Given the description of an element on the screen output the (x, y) to click on. 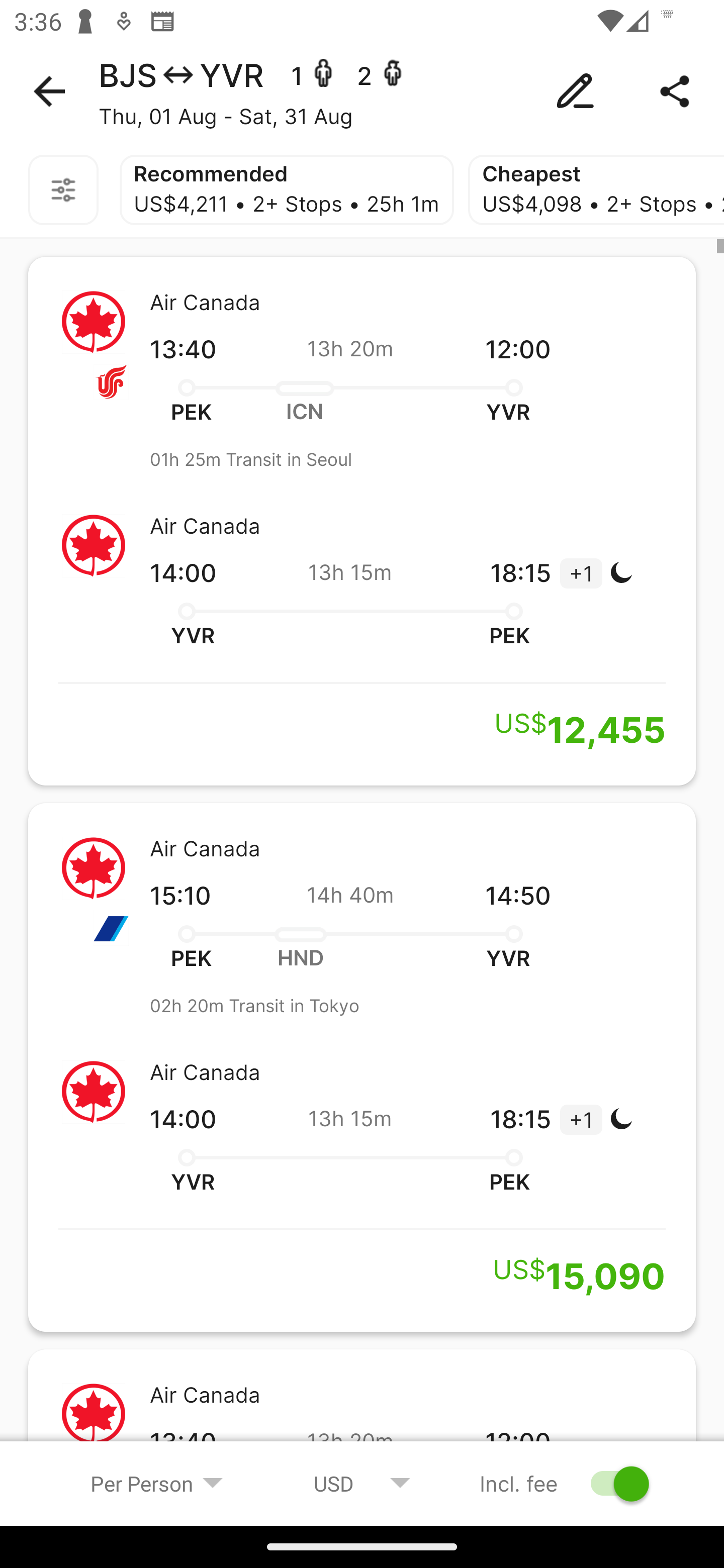
BJS YVR   1 -   2 - Thu, 01 Aug - Sat, 31 Aug (361, 91)
Recommended  US$4,211 • 2+ Stops • 25h 1m (286, 190)
Cheapest US$4,098 • 2+ Stops • 25h 16m (596, 190)
Per Person (156, 1482)
USD (361, 1482)
